Given the description of an element on the screen output the (x, y) to click on. 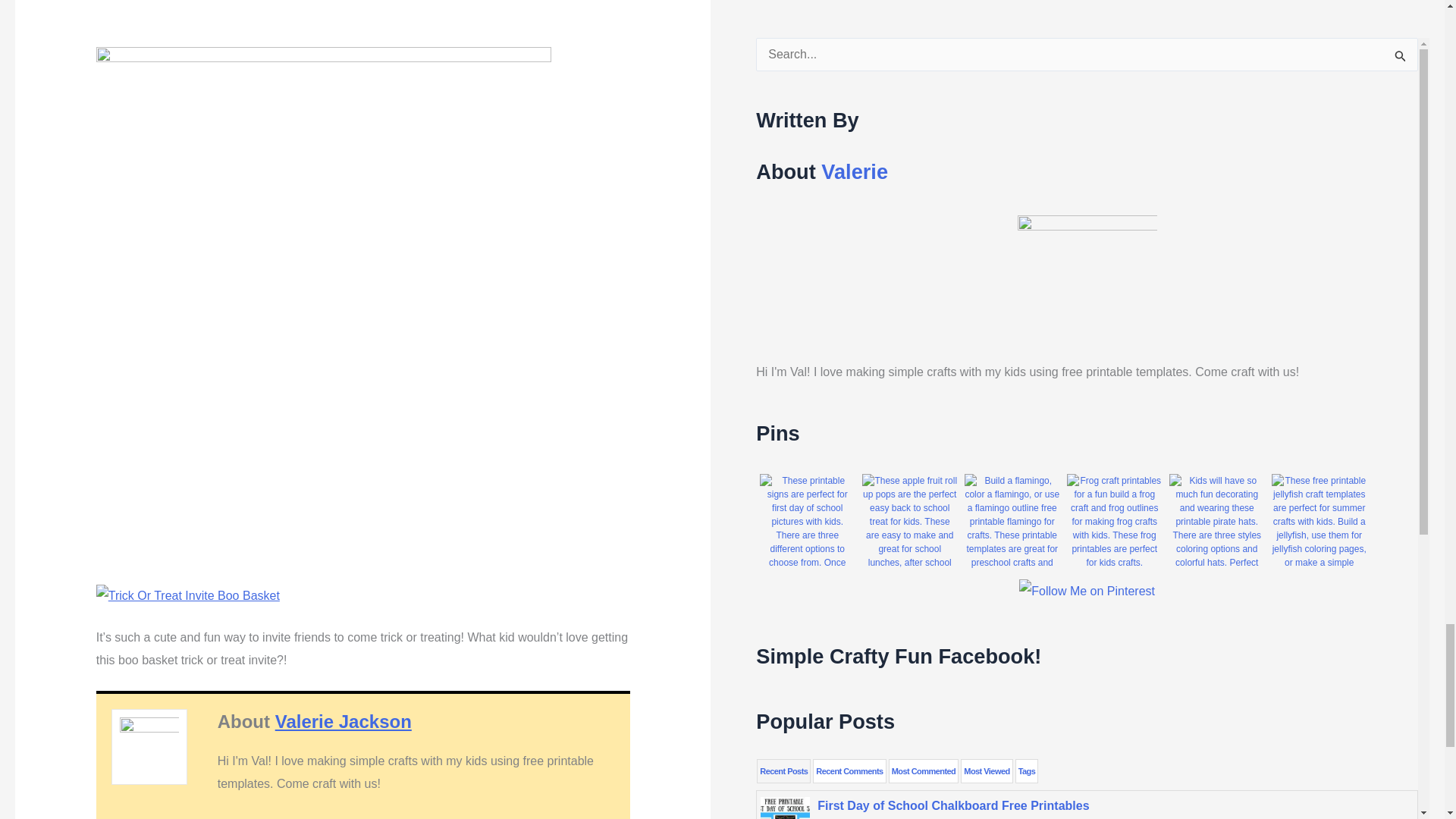
Valerie Jackson On Twitter (315, 818)
More Posts By Valerie Jackson (424, 818)
Valerie Jackson On The Web (283, 818)
Valerie Jackson (343, 721)
Valerie Jackson On Facebook (358, 818)
